Given the description of an element on the screen output the (x, y) to click on. 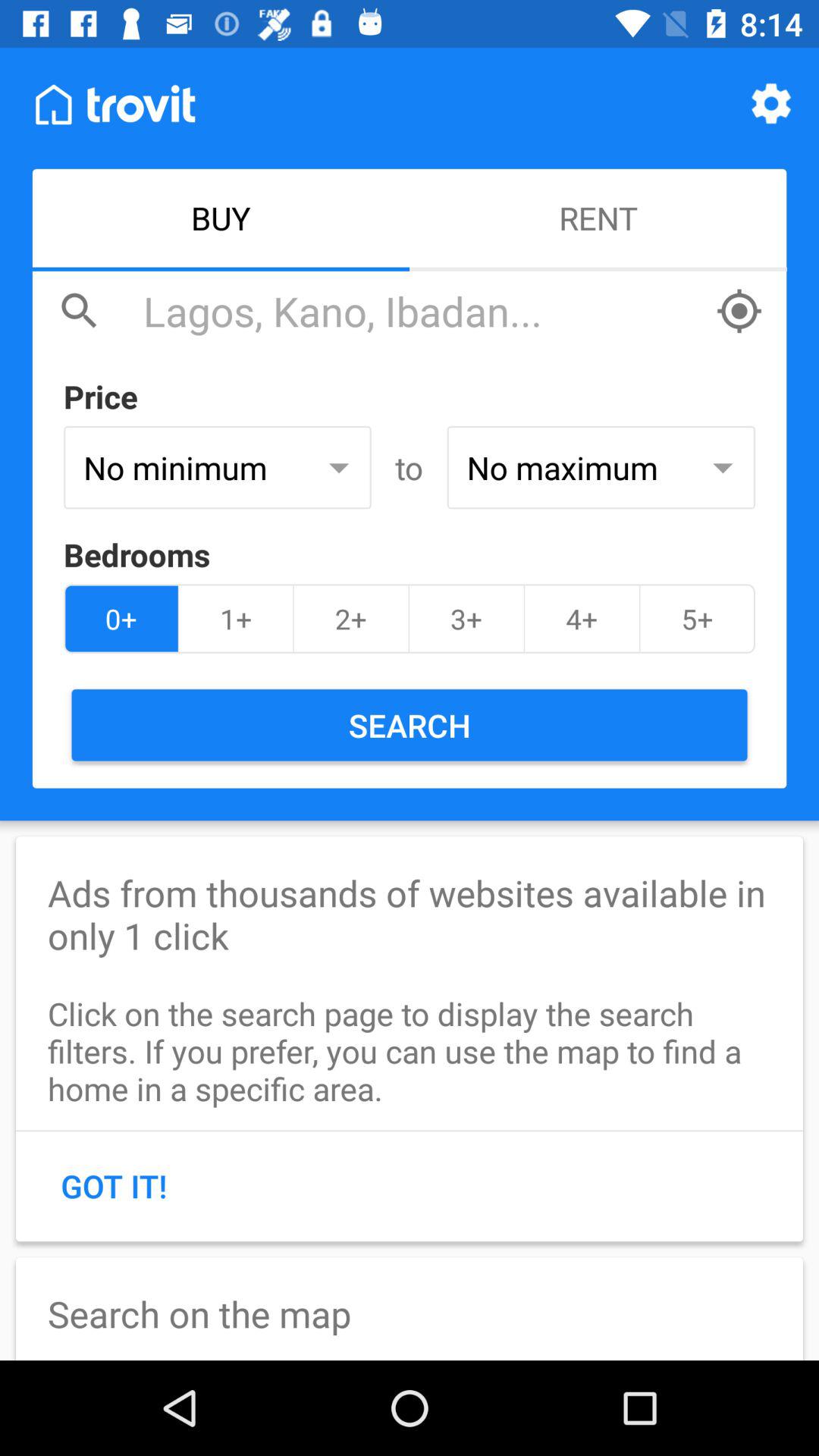
choose item below bedrooms (581, 618)
